Given the description of an element on the screen output the (x, y) to click on. 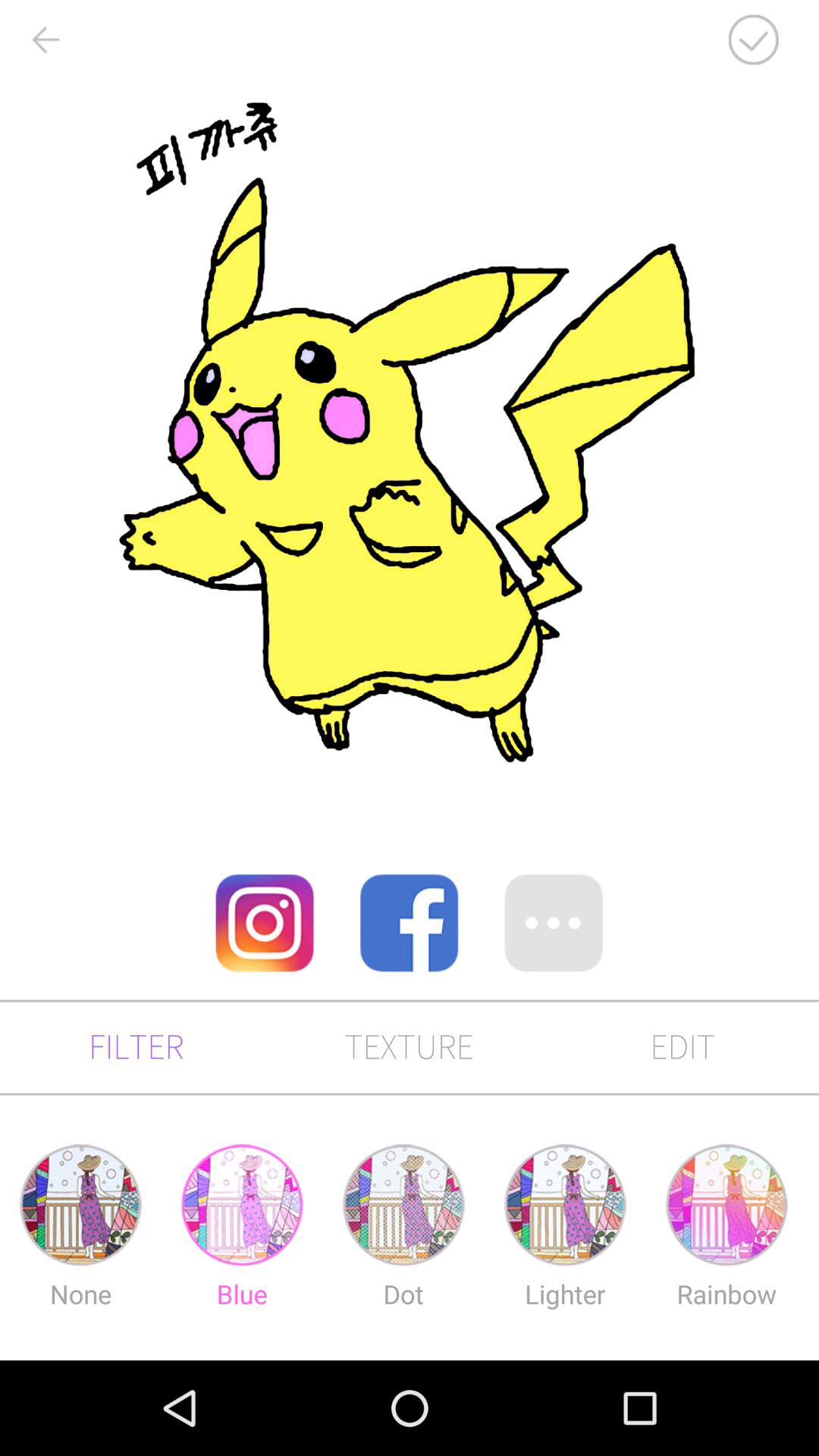
go back (45, 39)
